Given the description of an element on the screen output the (x, y) to click on. 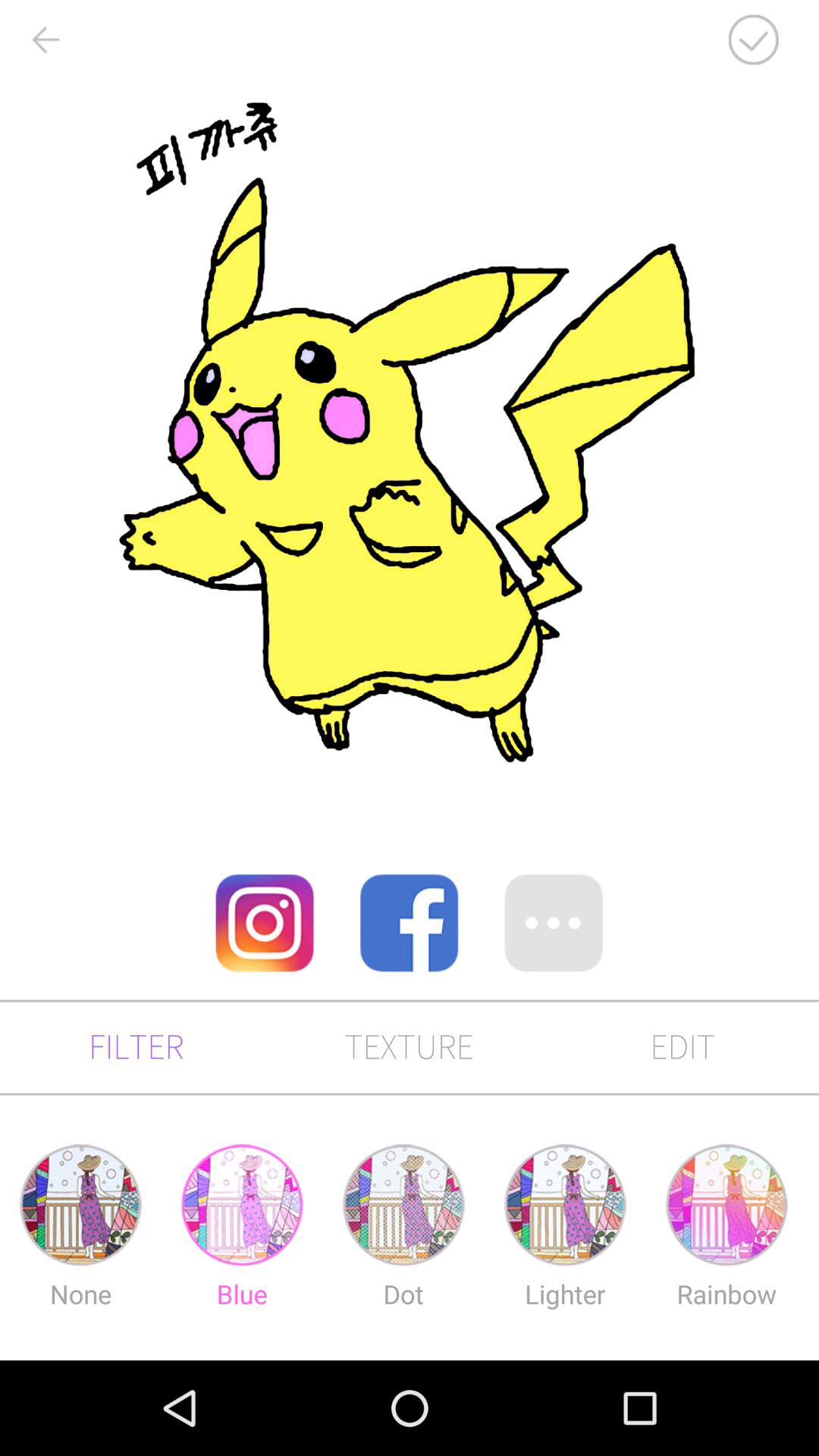
go back (45, 39)
